Given the description of an element on the screen output the (x, y) to click on. 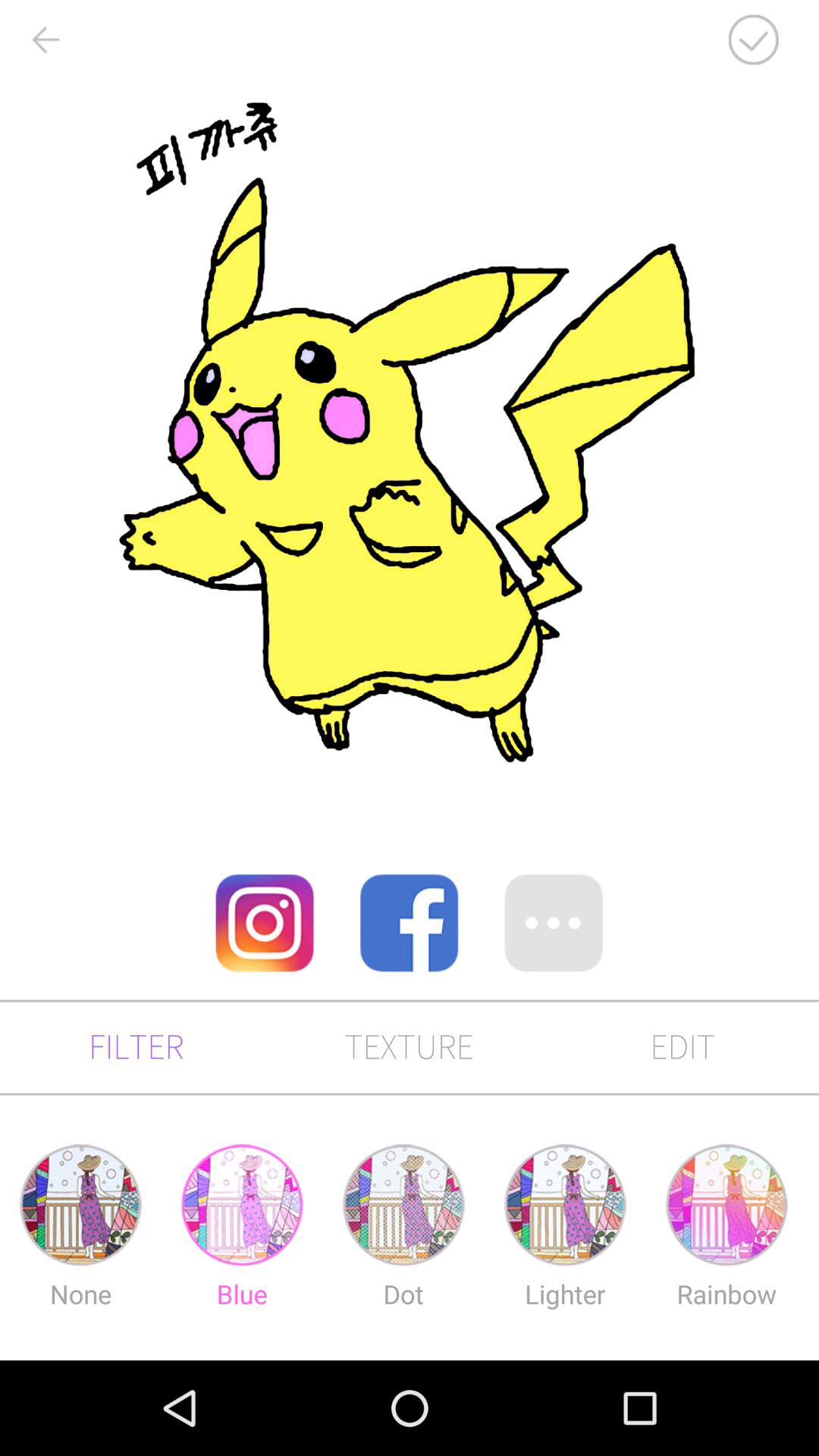
go back (45, 39)
